Given the description of an element on the screen output the (x, y) to click on. 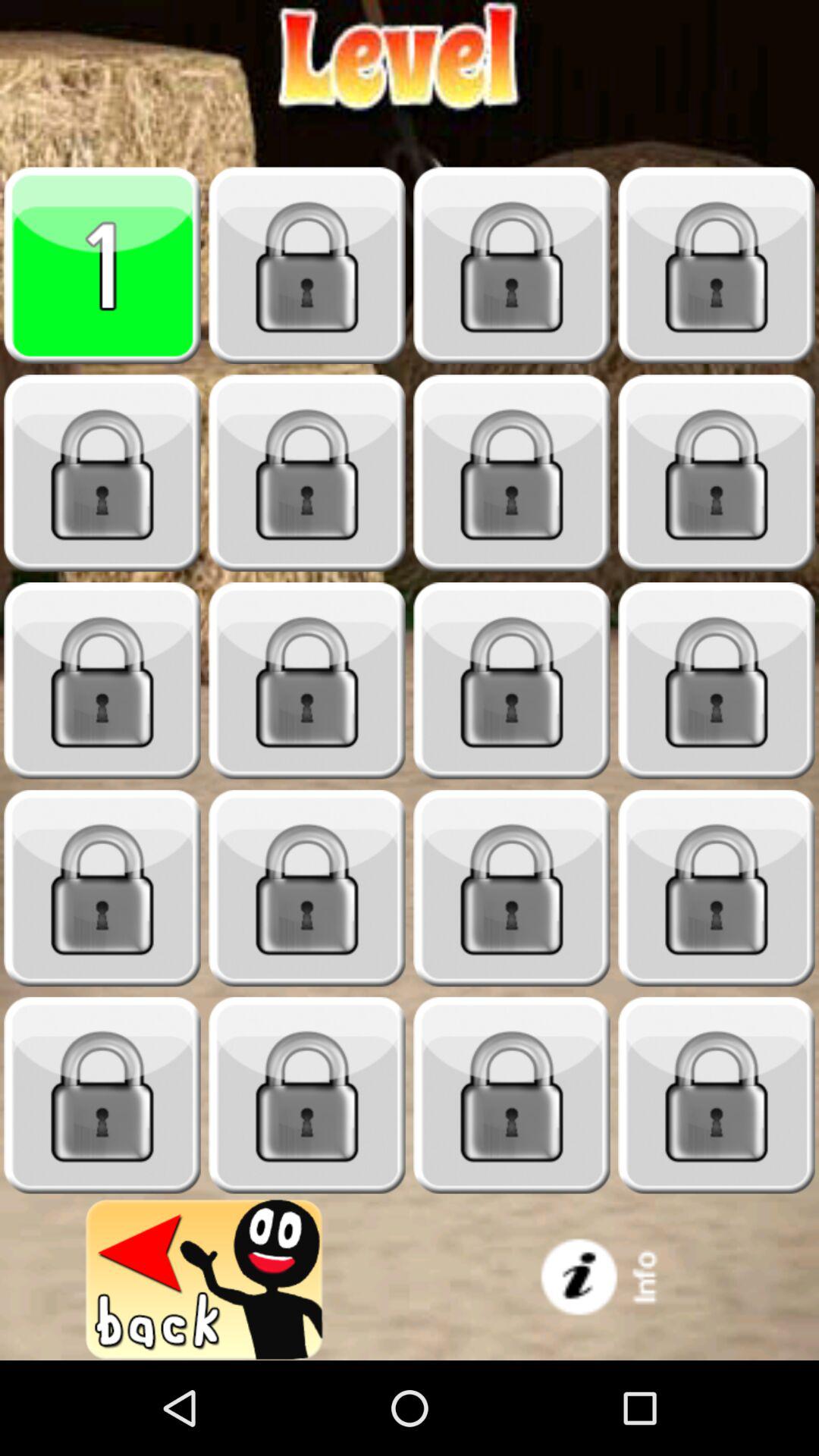
see what is behind the lock icon (511, 473)
